Given the description of an element on the screen output the (x, y) to click on. 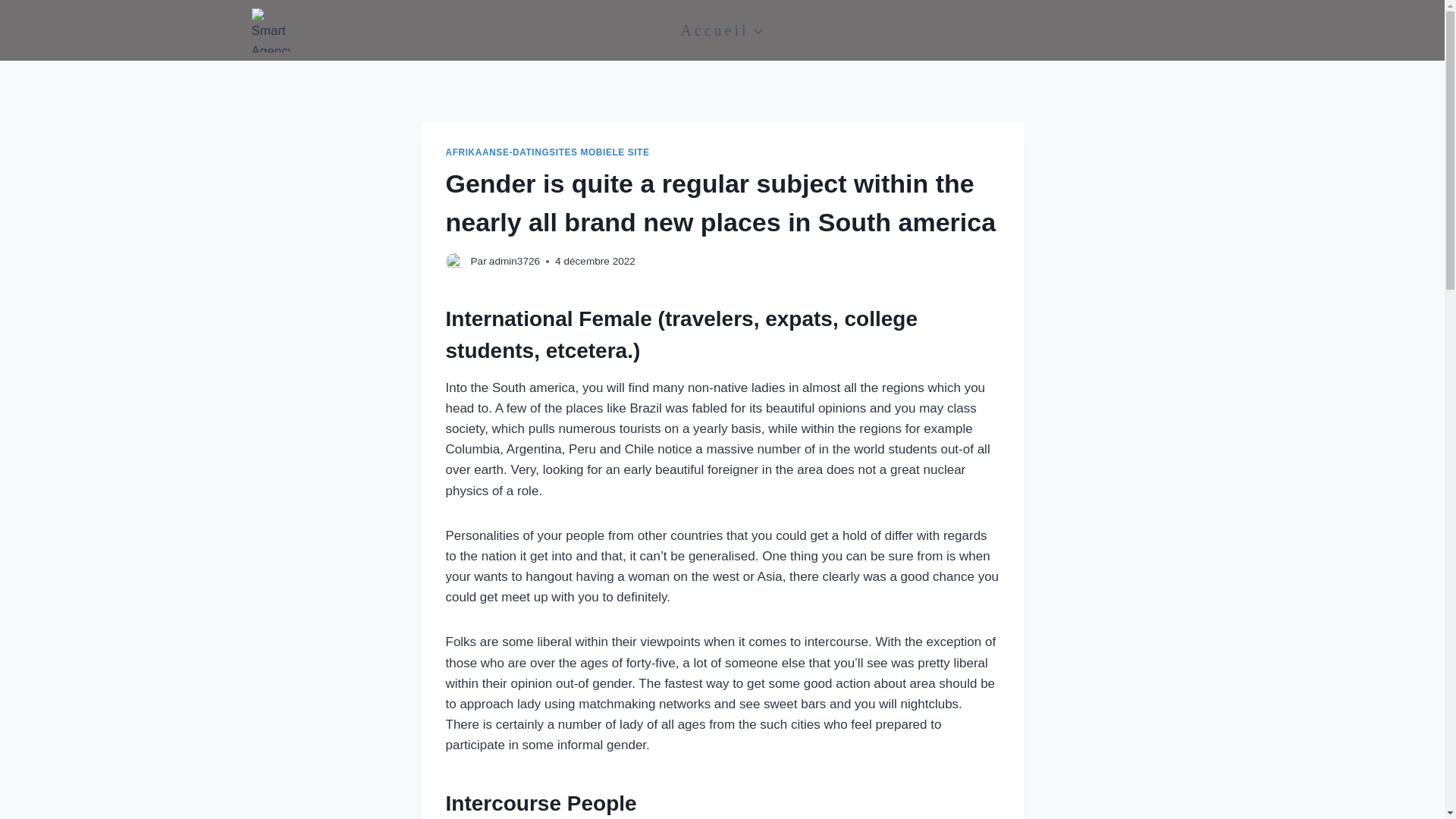
Accueil (721, 30)
AFRIKAANSE-DATINGSITES MOBIELE SITE (547, 152)
admin3726 (514, 260)
